Given the description of an element on the screen output the (x, y) to click on. 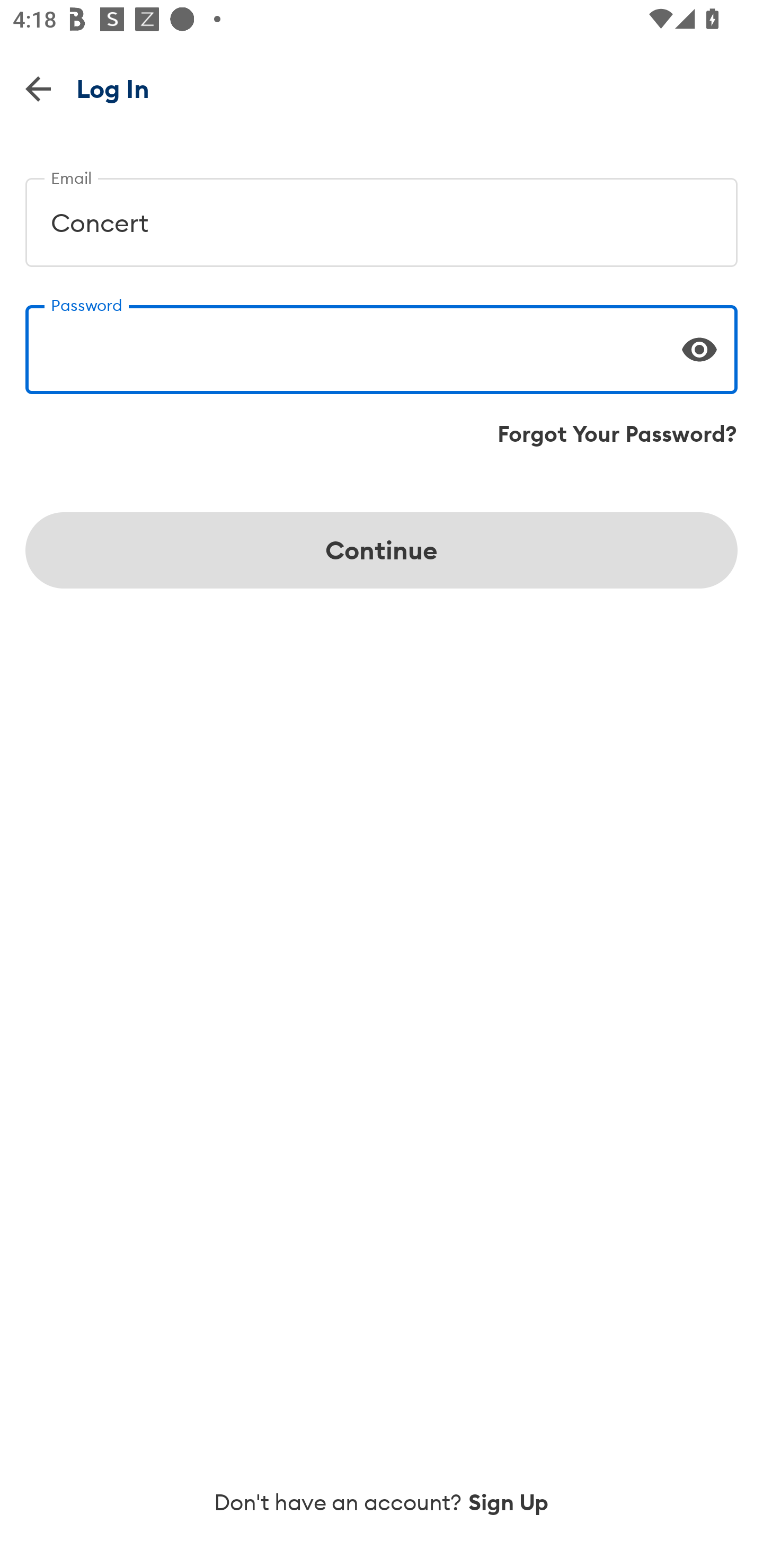
Back (38, 88)
Concert Email (381, 215)
Password (381, 342)
Forgot Your Password? (617, 433)
Continue (381, 550)
Sign Up (508, 1502)
